Given the description of an element on the screen output the (x, y) to click on. 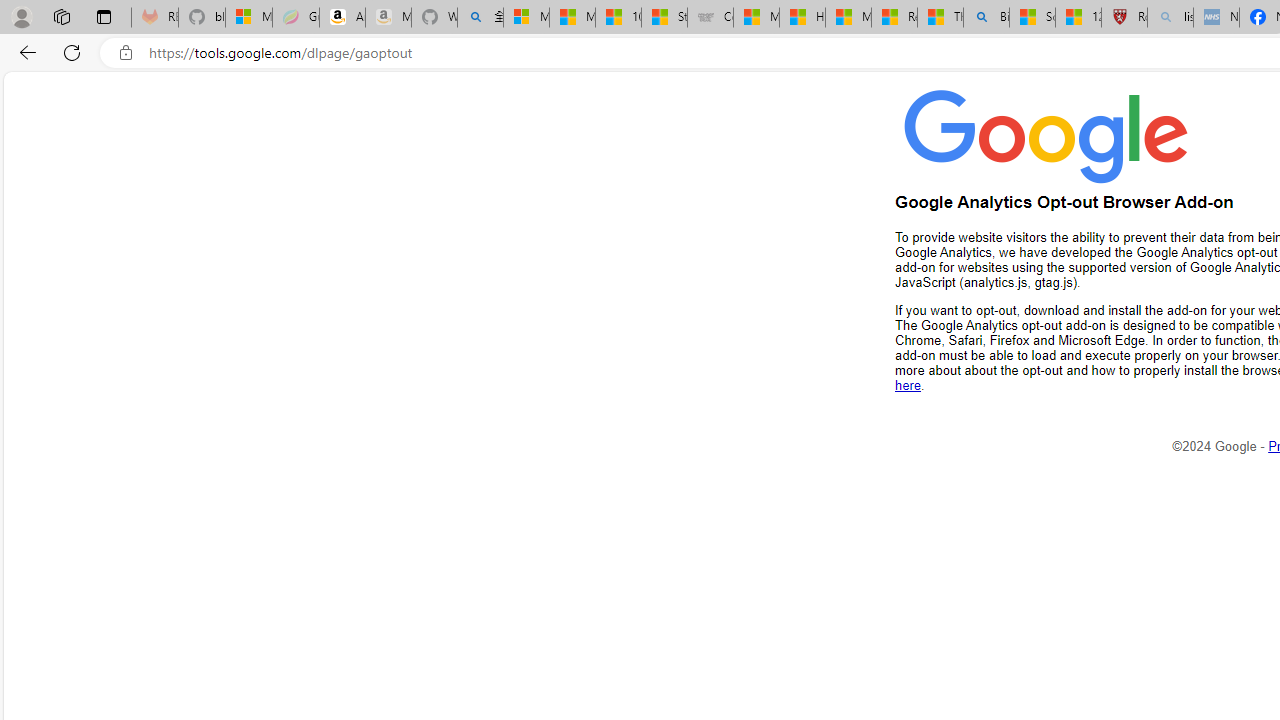
here (907, 385)
